Given the description of an element on the screen output the (x, y) to click on. 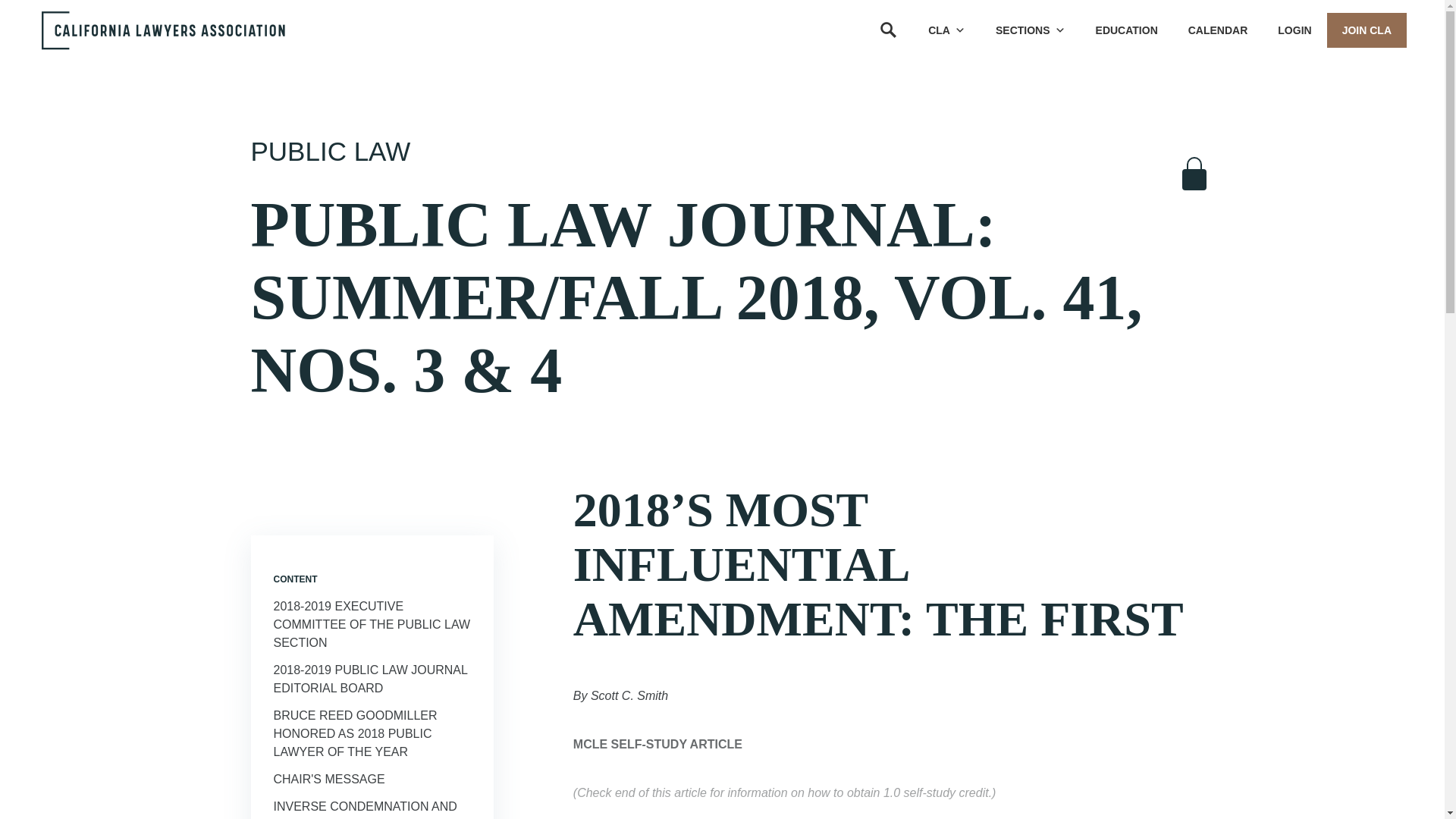
2018-2019 Executive Committee of the Public Law Section (371, 624)
SECTIONS (1029, 30)
Chair's Message (328, 779)
CLA (945, 30)
2018-2019 Public Law Journal Editorial Board (370, 678)
